Given the description of an element on the screen output the (x, y) to click on. 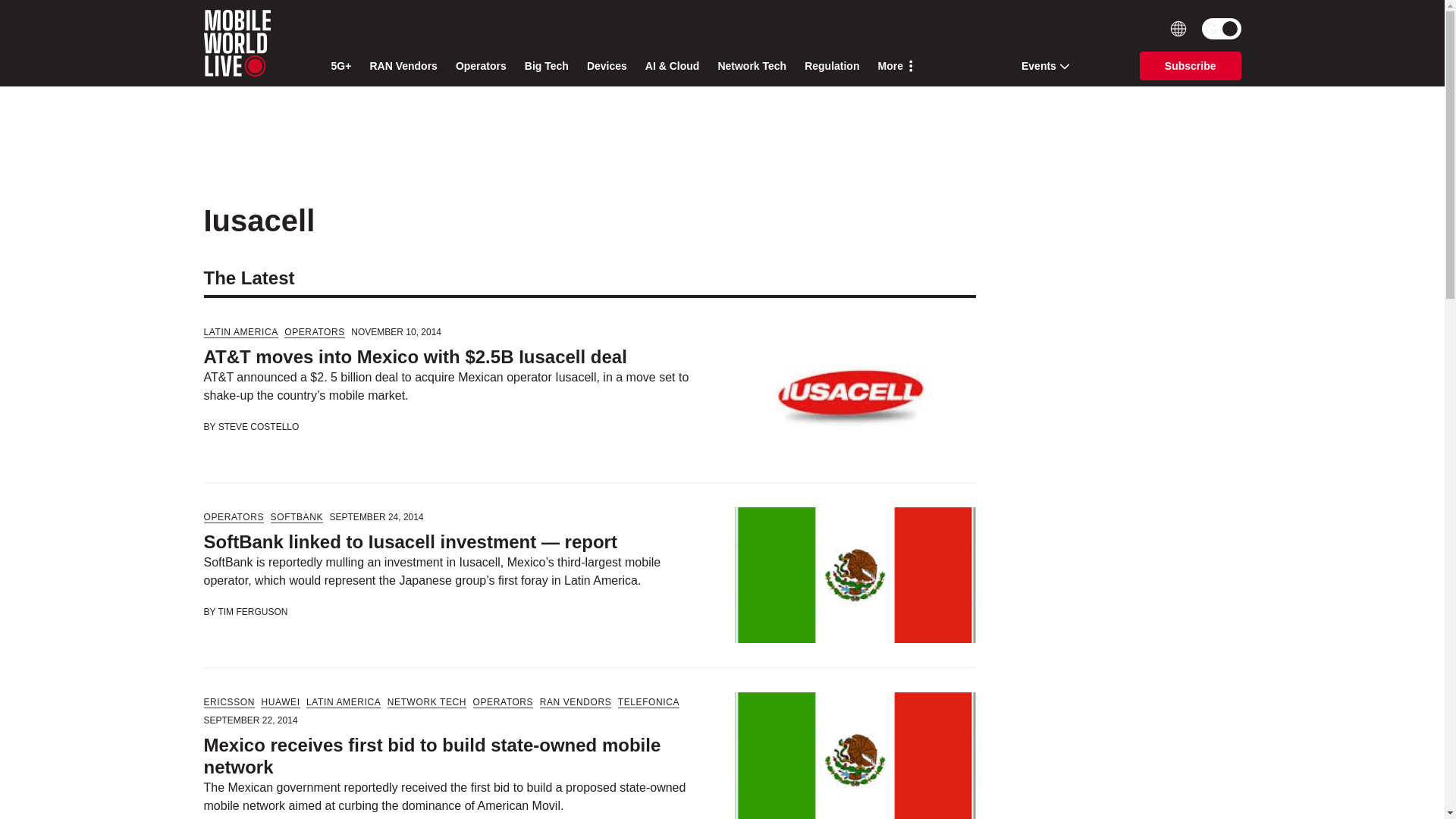
Operators (480, 65)
Devices (606, 65)
Network Tech (751, 65)
Events (1040, 65)
Subscribe (1190, 65)
Regulation (832, 65)
RAN Vendors (402, 65)
Big Tech (546, 65)
